Given the description of an element on the screen output the (x, y) to click on. 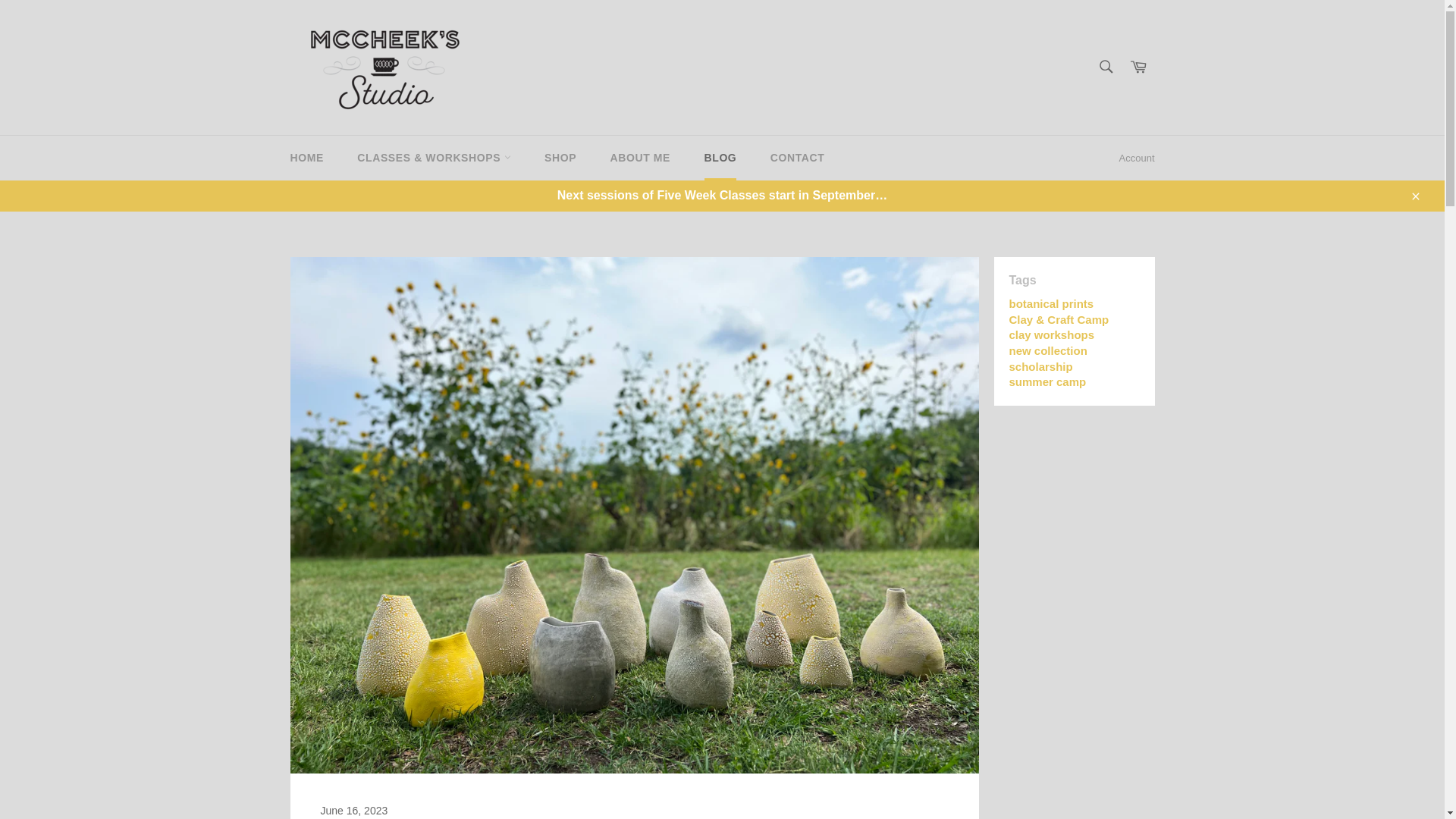
Search (1104, 65)
CONTACT (797, 157)
Account (1136, 158)
BLOG (720, 157)
Cart (1138, 66)
Show articles tagged botanical prints (1051, 303)
SHOP (560, 157)
HOME (306, 157)
Show articles tagged clay workshops (1051, 334)
Show articles tagged new collection (1047, 350)
Show articles tagged summer camp (1047, 381)
Show articles tagged scholarship (1040, 365)
Close (1414, 195)
ABOUT ME (640, 157)
